Given the description of an element on the screen output the (x, y) to click on. 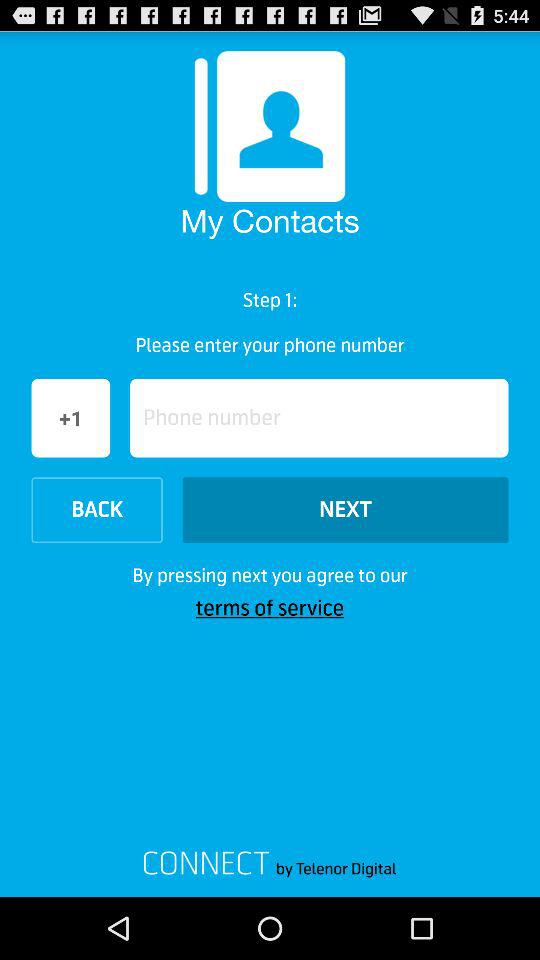
turn off item below by pressing next item (269, 608)
